Given the description of an element on the screen output the (x, y) to click on. 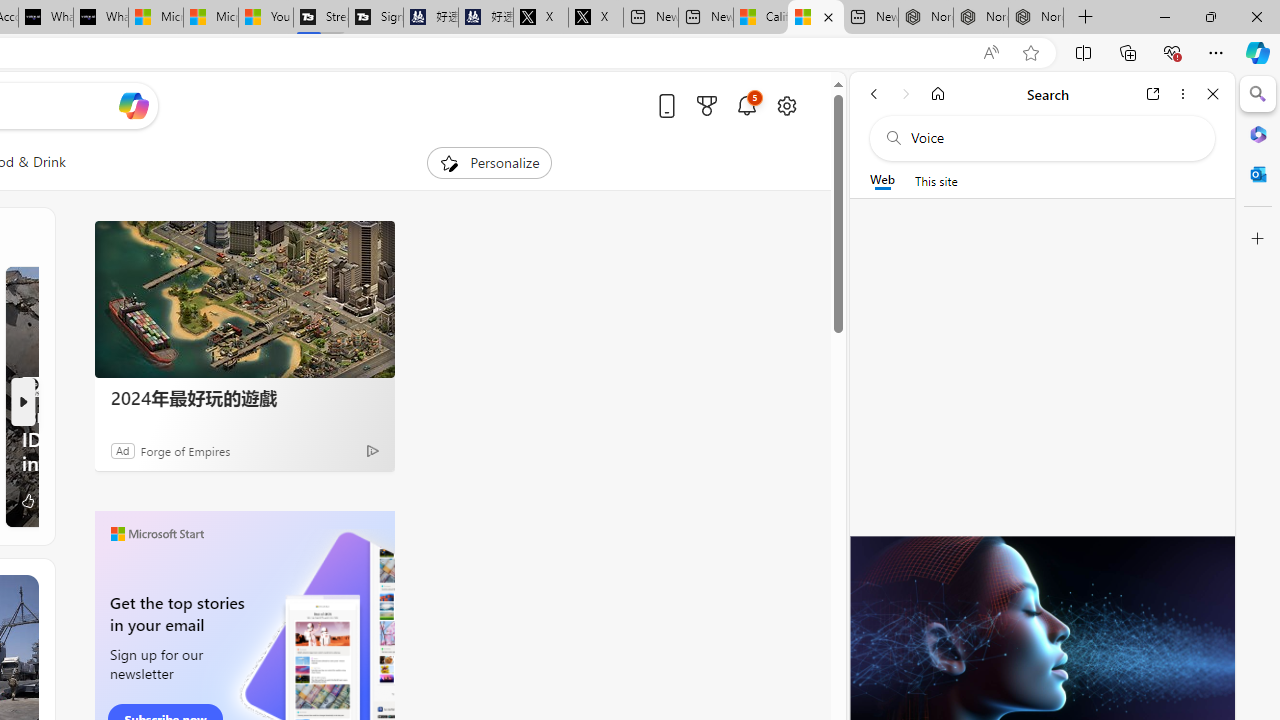
Microsoft rewards (707, 105)
Nordace - Best Sellers (925, 17)
Search the web (1051, 137)
Open settings (786, 105)
